Given the description of an element on the screen output the (x, y) to click on. 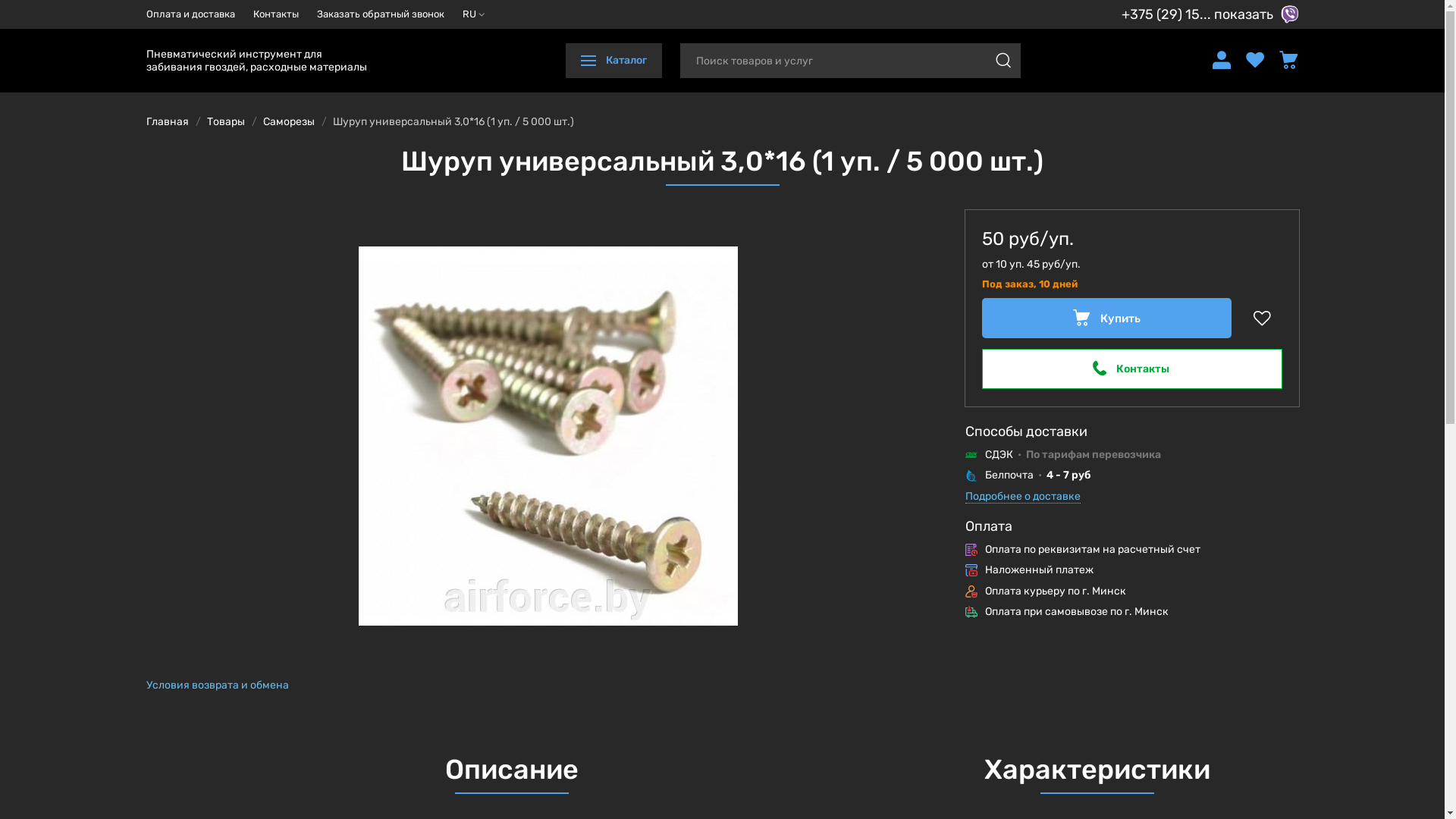
RU Element type: text (473, 14)
Viber Element type: hover (1289, 14)
